Given the description of an element on the screen output the (x, y) to click on. 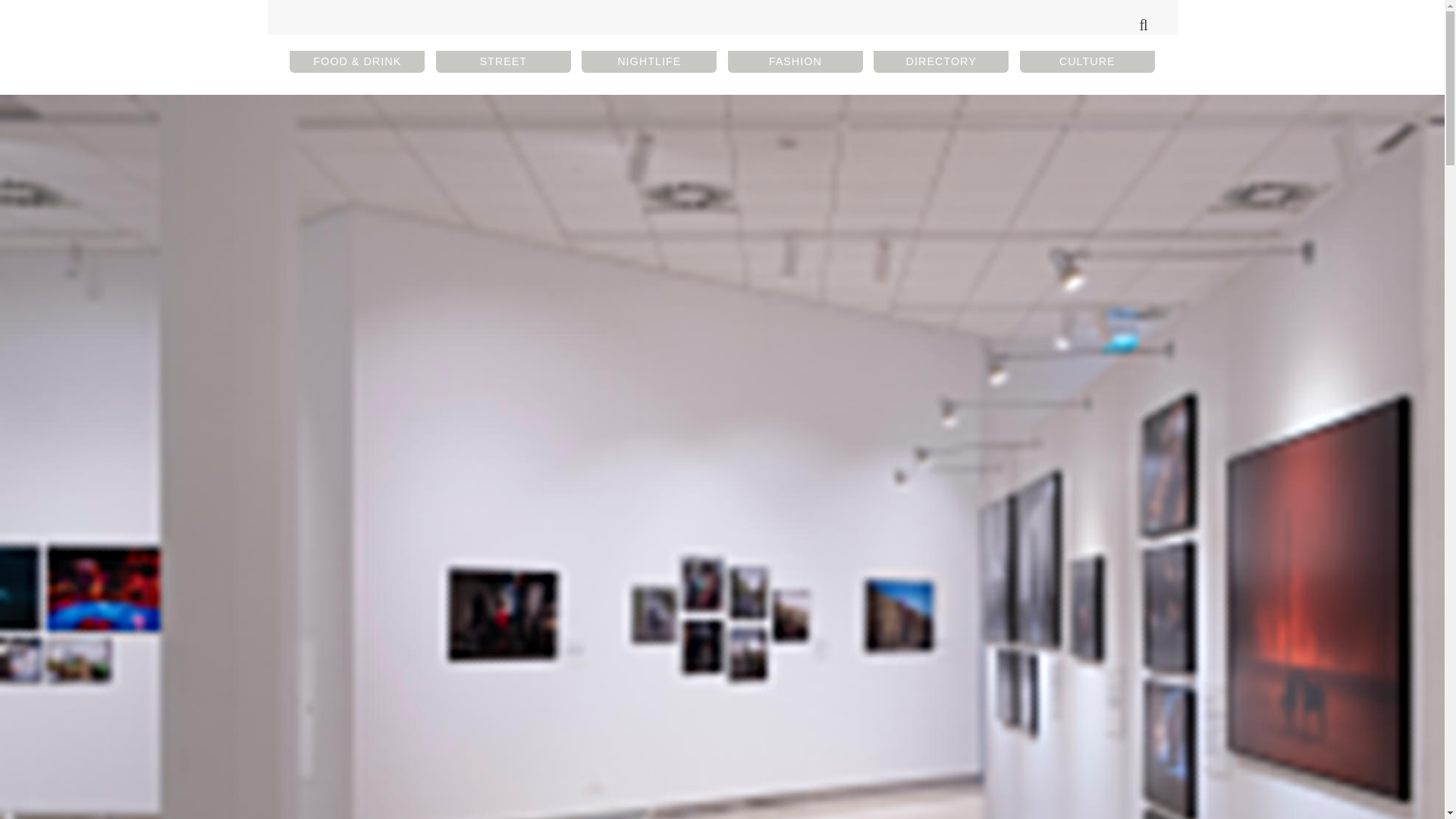
FASHION (795, 61)
STREET (502, 61)
DIRECTORY (941, 61)
NIGHTLIFE (648, 61)
CULTURE (1087, 61)
